Given the description of an element on the screen output the (x, y) to click on. 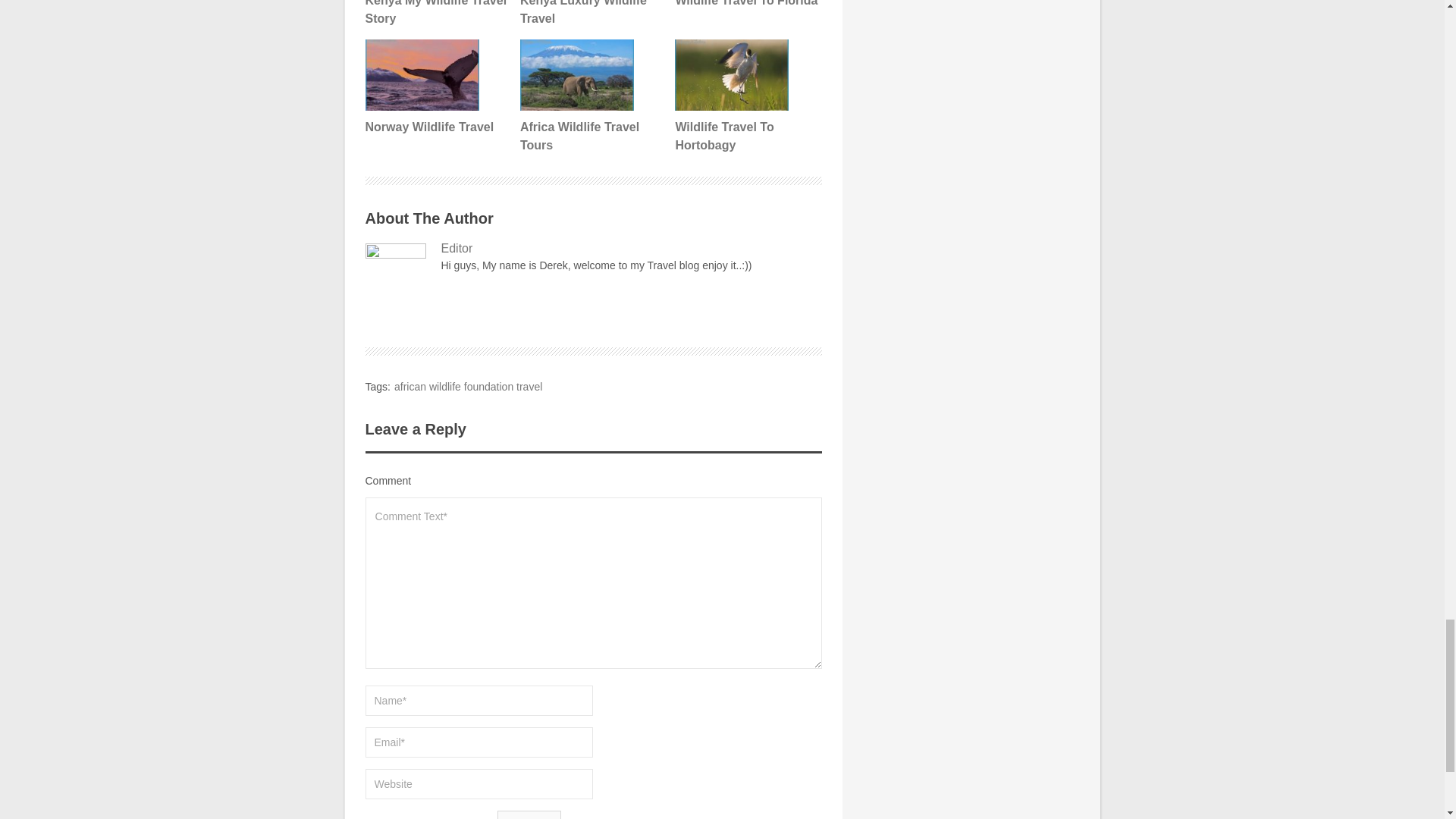
Wildlife Travel To Hortobagy (746, 97)
Kenya My Wildlife Travel Story (437, 13)
Wildlife Travel To Florida (746, 4)
Editor (593, 248)
Norway Wildlife Travel (437, 88)
Kenya Luxury Wildlife Travel (591, 13)
Kenya My Wildlife Travel Story (437, 13)
Wildlife Travel To Florida (746, 4)
Kenya Luxury Wildlife Travel (591, 13)
african wildlife foundation travel (467, 386)
Africa Wildlife Travel Tours (591, 97)
